Given the description of an element on the screen output the (x, y) to click on. 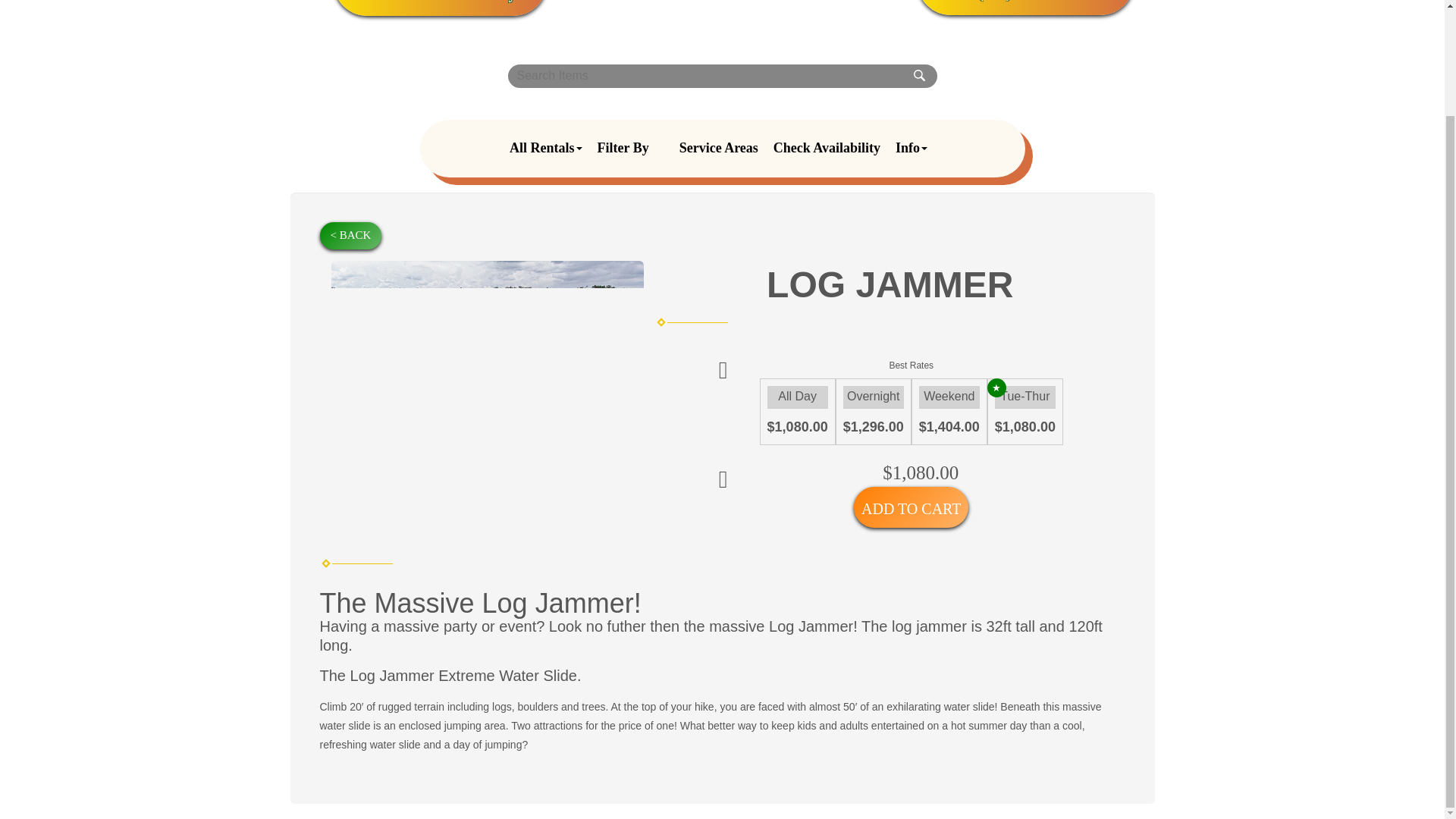
ocala premier Logo (731, 8)
LOG JAMMER (486, 378)
All Rentals (545, 148)
